Given the description of an element on the screen output the (x, y) to click on. 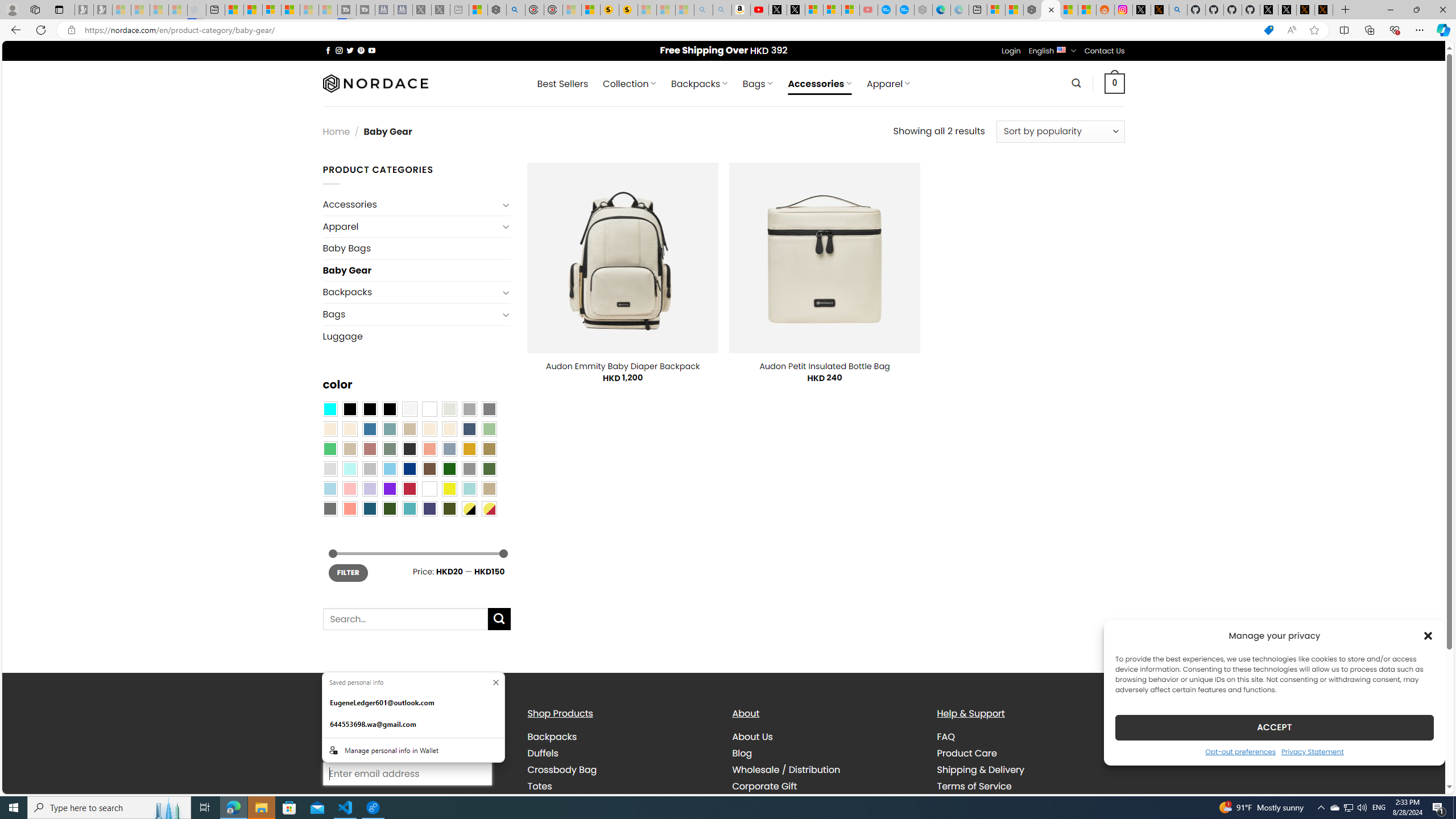
github - Search (1178, 9)
FAQ (1030, 737)
Go to top (1421, 777)
Apparel (410, 226)
Rose (369, 448)
Luggage (416, 336)
Amazon Echo Dot PNG - Search Images - Sleeping (721, 9)
